Given the description of an element on the screen output the (x, y) to click on. 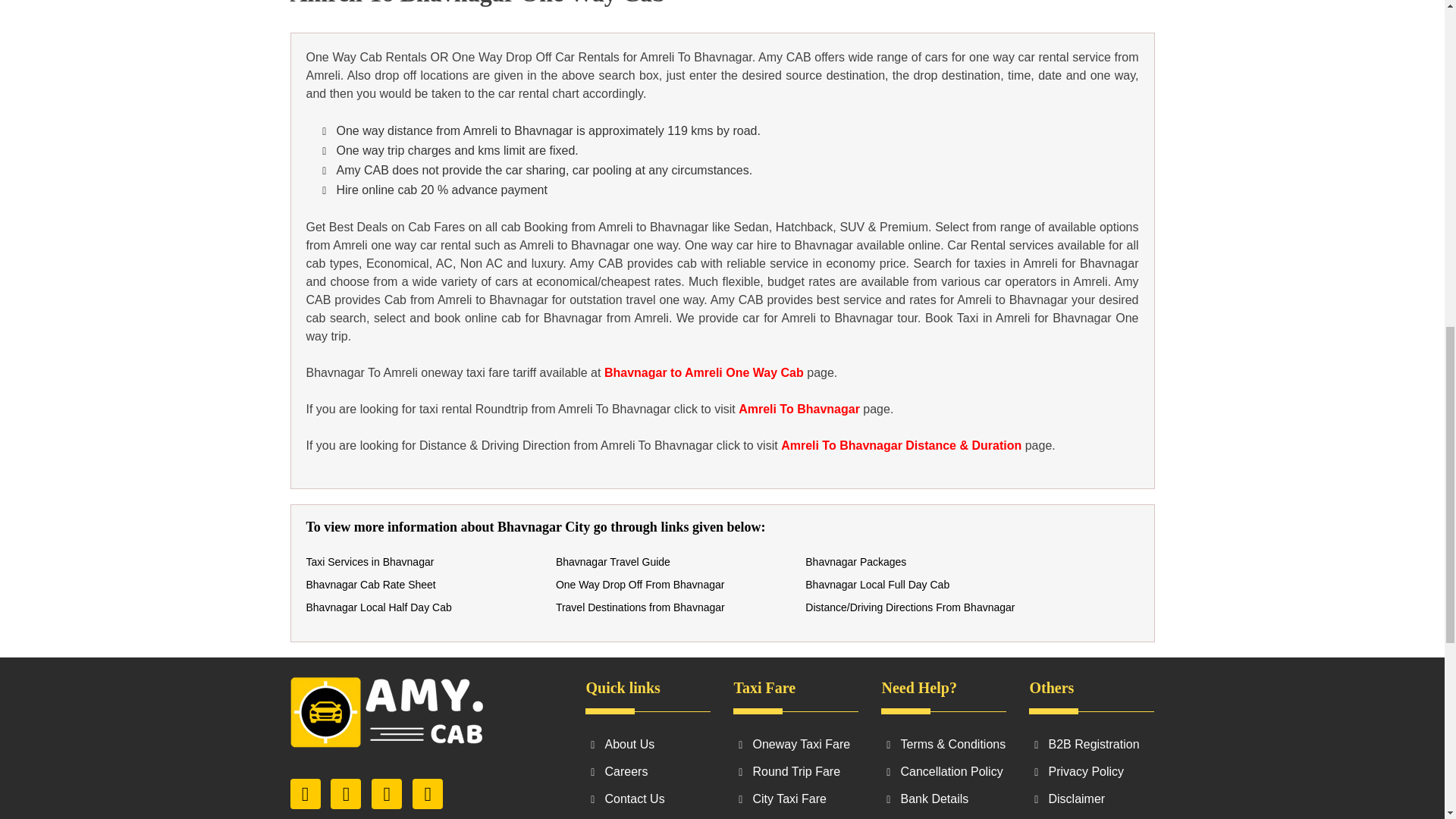
Bhavnagar Travel Guide (612, 562)
Bhavnagar Cab Rate Sheet (370, 584)
Bhavnagar Local Full Day Cab (877, 584)
Bhavnagar Packages (855, 562)
Bhavnagar to Amreli One Way Cab (703, 372)
Taxi Services in Bhavnagar (369, 562)
Travel Destinations from Bhavnagar (640, 607)
One Way Drop Off From Bhavnagar (640, 584)
Bhavnagar Local Half Day Cab (378, 607)
Amreli To Bhavnagar (799, 408)
